Given the description of an element on the screen output the (x, y) to click on. 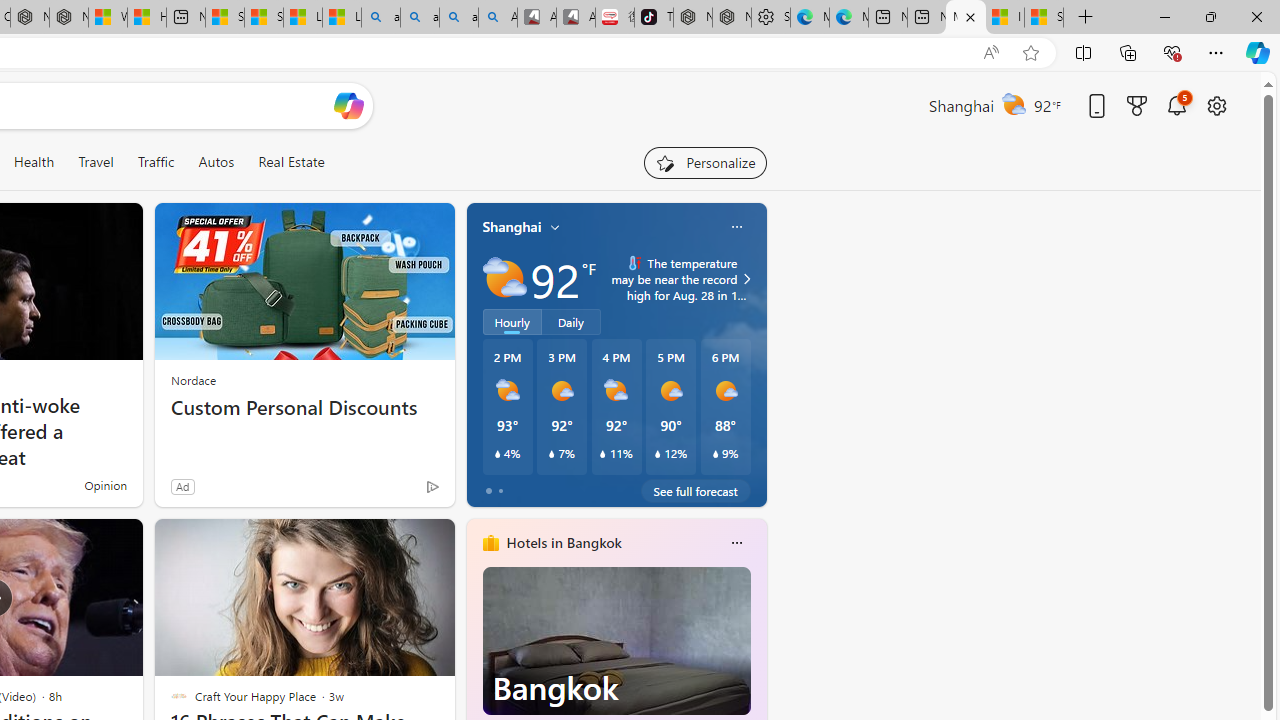
Class: weather-current-precipitation-glyph (715, 453)
Hourly (511, 321)
Travel (95, 161)
This story is trending (393, 490)
